Given the description of an element on the screen output the (x, y) to click on. 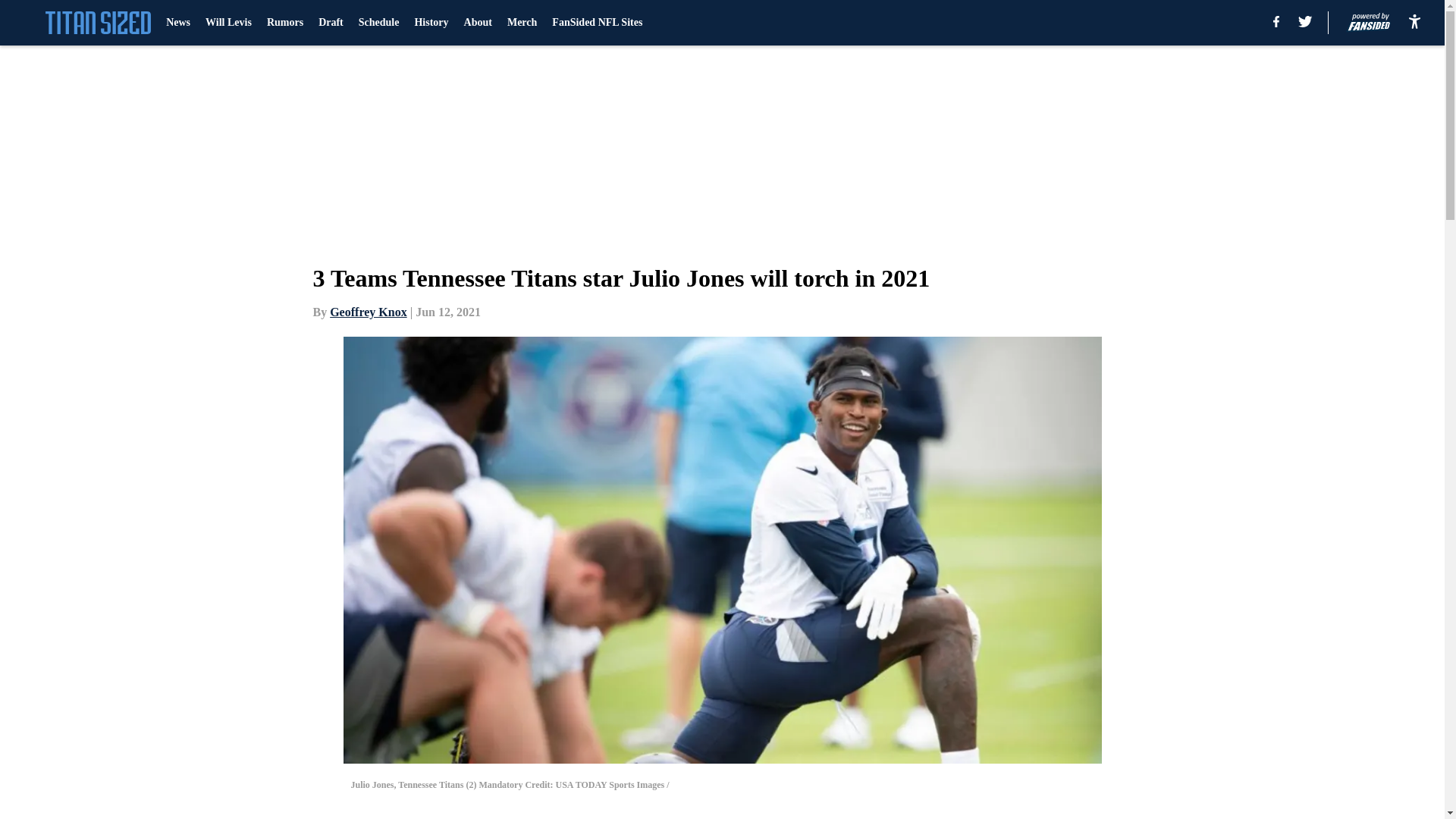
News (177, 22)
Rumors (284, 22)
About (478, 22)
Will Levis (228, 22)
FanSided NFL Sites (596, 22)
Schedule (378, 22)
History (430, 22)
Geoffrey Knox (368, 311)
Merch (521, 22)
Draft (330, 22)
